Given the description of an element on the screen output the (x, y) to click on. 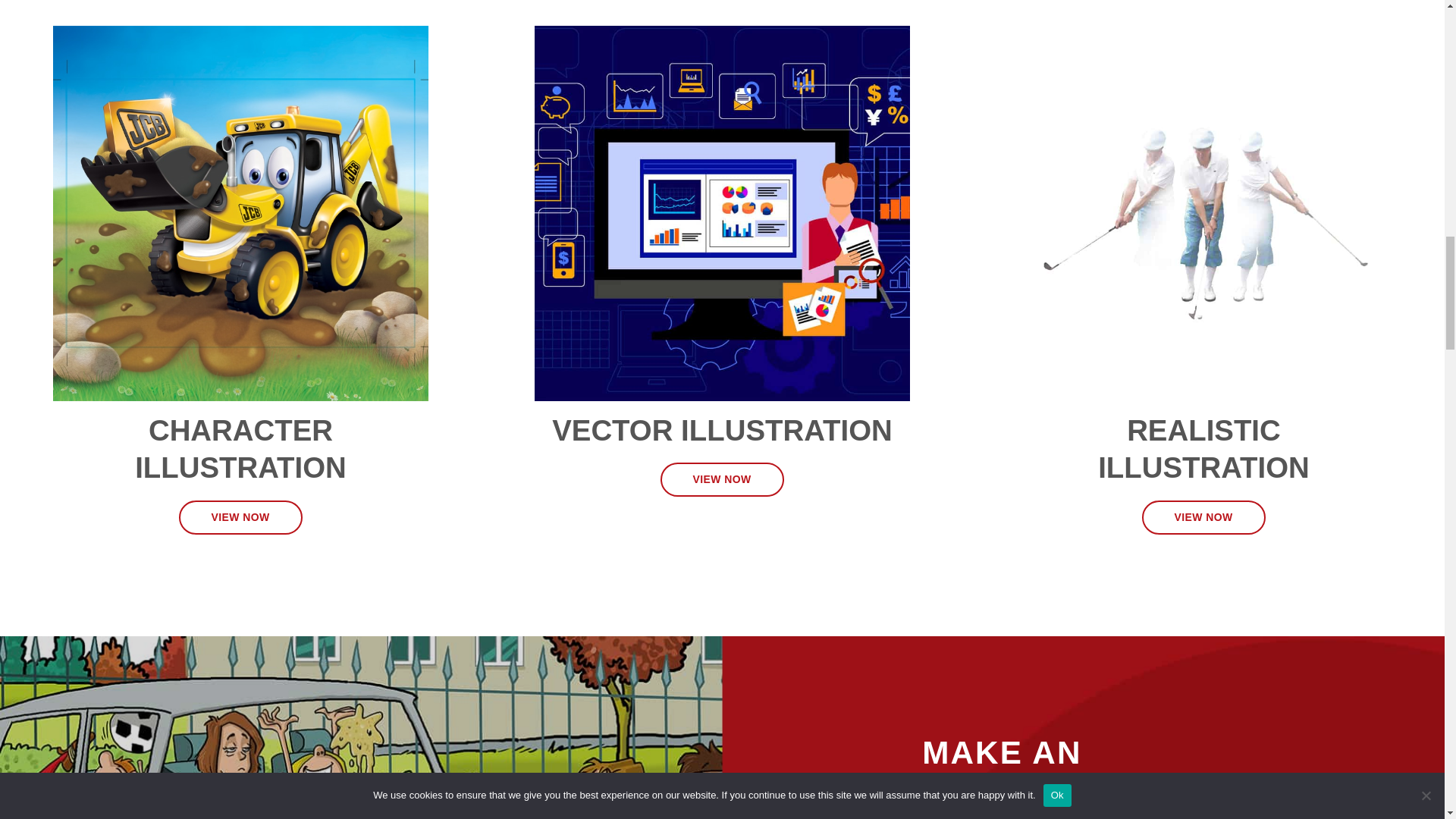
VIEW NOW (1203, 517)
VIEW NOW (722, 479)
VIEW NOW (240, 517)
